Given the description of an element on the screen output the (x, y) to click on. 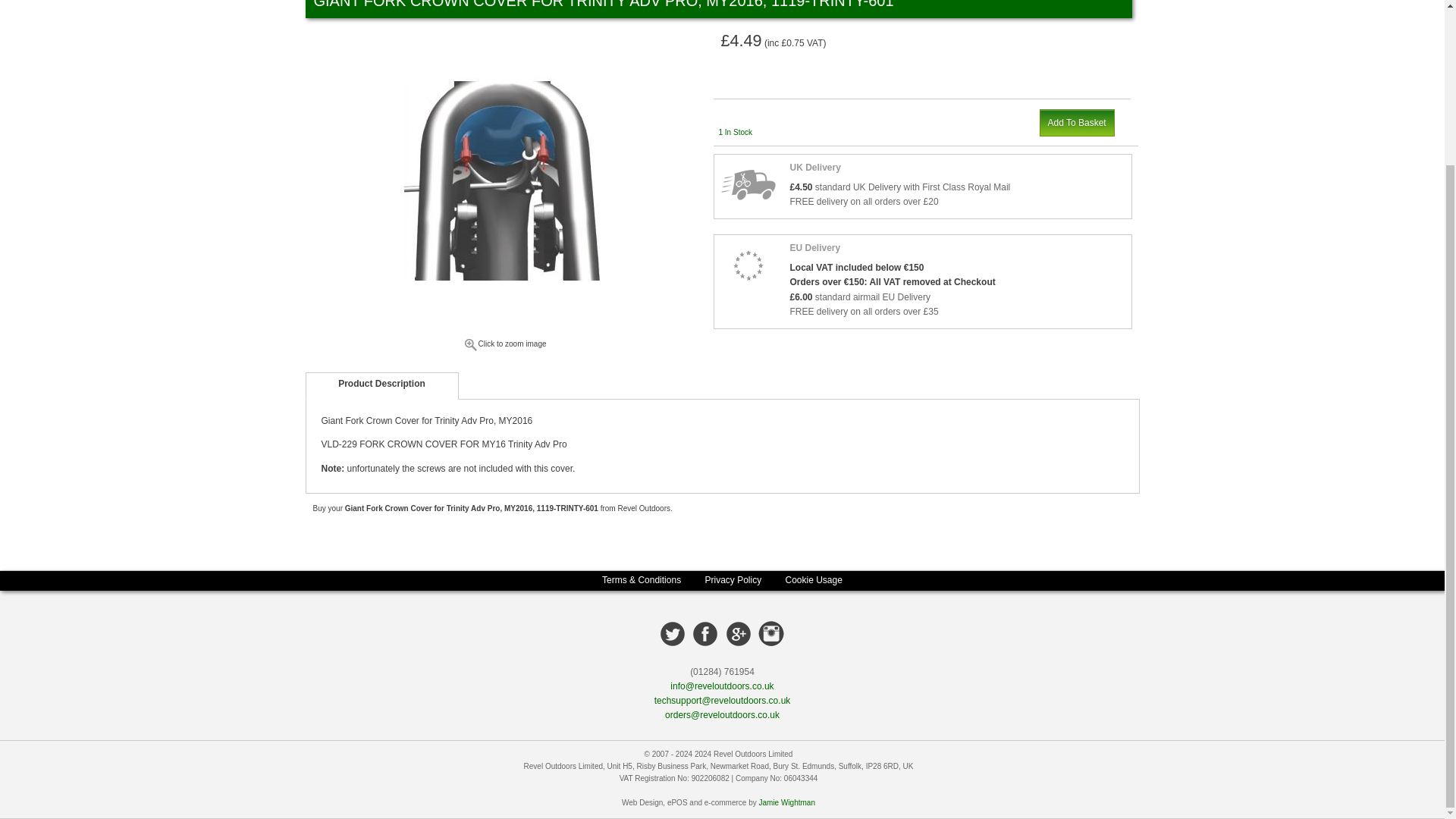
Privacy Policy (732, 579)
Follow Revel Outdoors on twitter (672, 632)
Add To Basket (1076, 122)
Find Revel Outdoors on Facebook (705, 632)
Follow Revel Outdoors on Instagram (771, 633)
Cookie Usage (814, 579)
Add To Basket (1076, 122)
Jamie Wightman (785, 802)
Click to zoom image (504, 347)
